Given the description of an element on the screen output the (x, y) to click on. 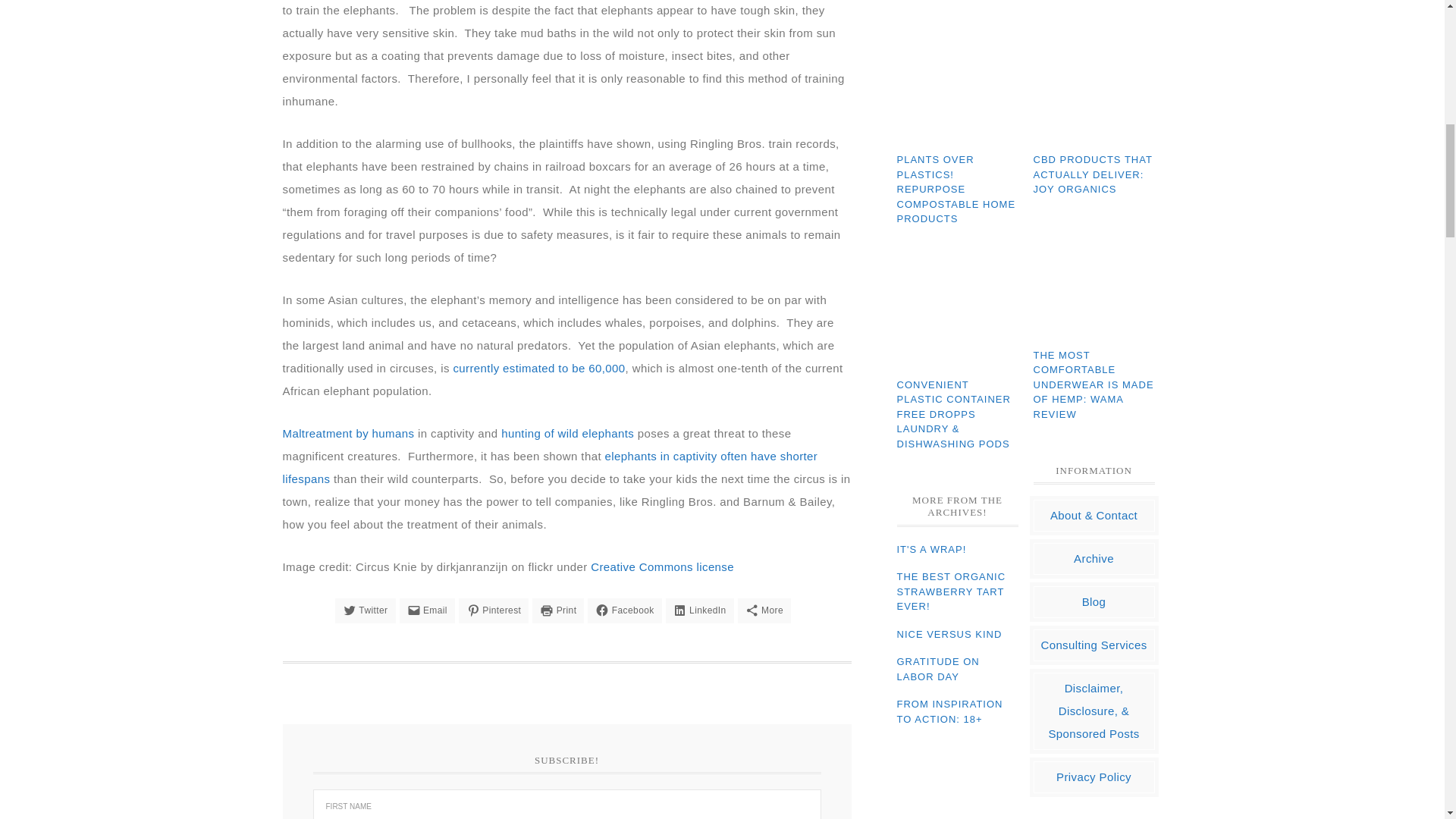
elephants in captivity often have shorter lifespans (549, 466)
currently estimated to be 60,000 (538, 367)
Click to share on Twitter (365, 609)
Click to share on Pinterest (493, 609)
Click to share on LinkedIn (699, 609)
Facebook (624, 609)
More (764, 609)
Email (426, 609)
Maltreatment by humans (347, 431)
Creative Commons license (662, 565)
